Given the description of an element on the screen output the (x, y) to click on. 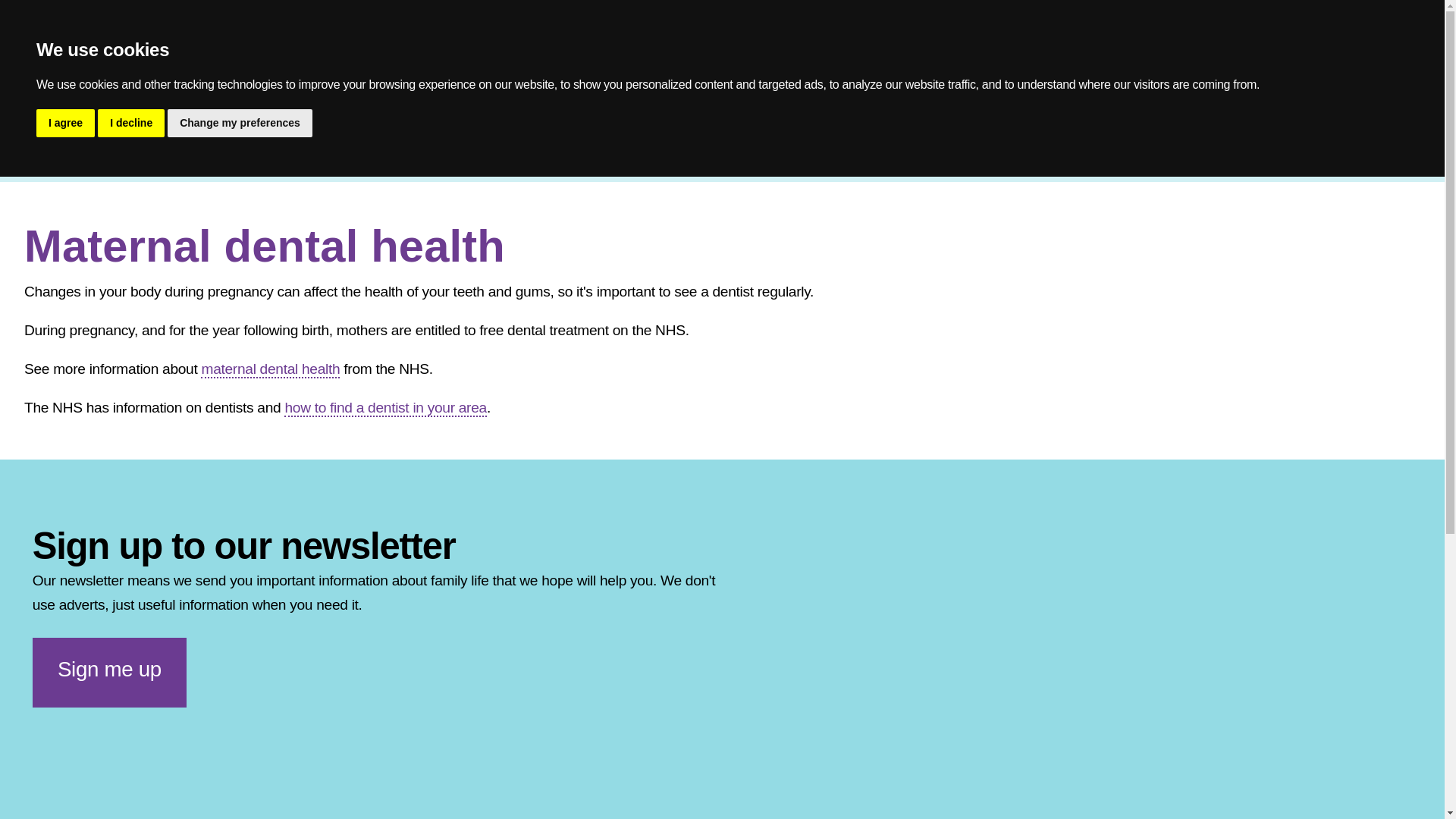
Sign me up (109, 672)
Topics (210, 115)
Latest news (604, 115)
Activities and services (330, 115)
Topics (105, 159)
maternal dental health (269, 369)
Family hub network (100, 115)
I decline (130, 122)
I agree (65, 122)
Childcare search (485, 115)
